Given the description of an element on the screen output the (x, y) to click on. 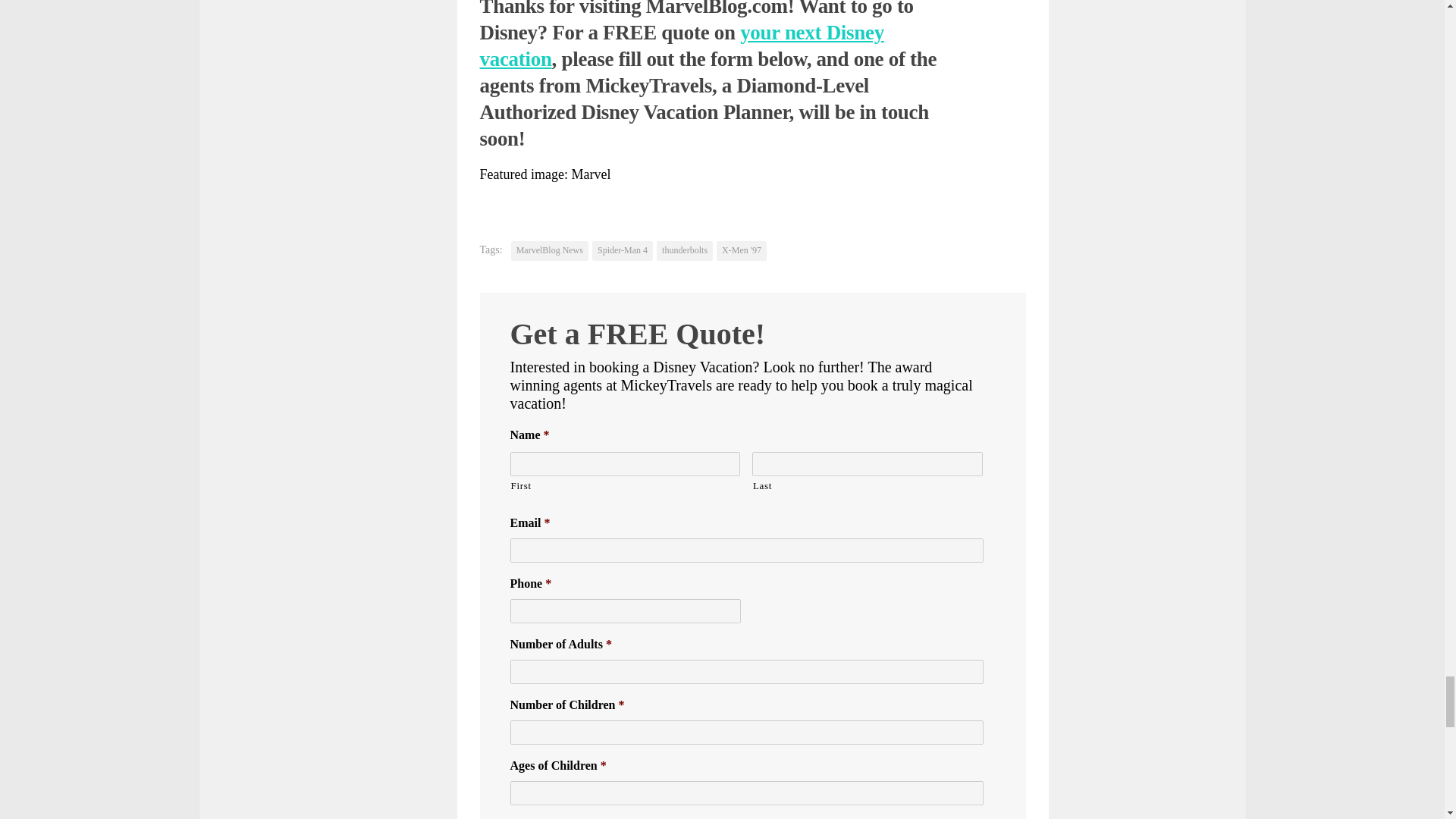
X-Men '97 (741, 250)
thunderbolts (684, 250)
MarvelBlog News (549, 250)
your next Disney vacation (681, 45)
Spider-Man 4 (622, 250)
